Given the description of an element on the screen output the (x, y) to click on. 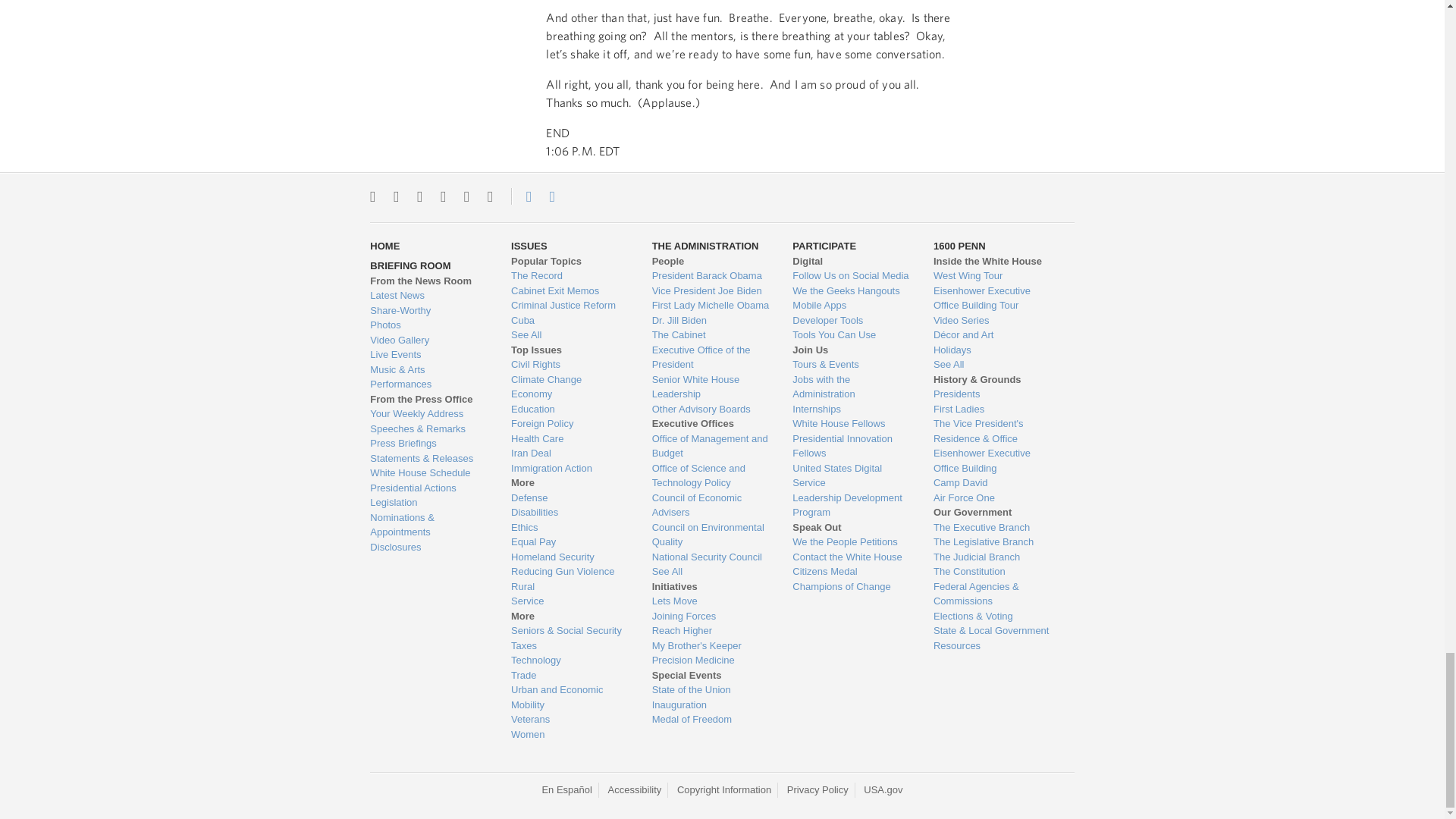
View the photo of the day and other galleries (428, 324)
Watch behind-the-scenes videos and more (428, 340)
Check out the most popular infographics and videos (428, 310)
Contact the Whitehouse. (521, 196)
Read the latest blog posts from 1600 Pennsylvania Ave (428, 295)
